Given the description of an element on the screen output the (x, y) to click on. 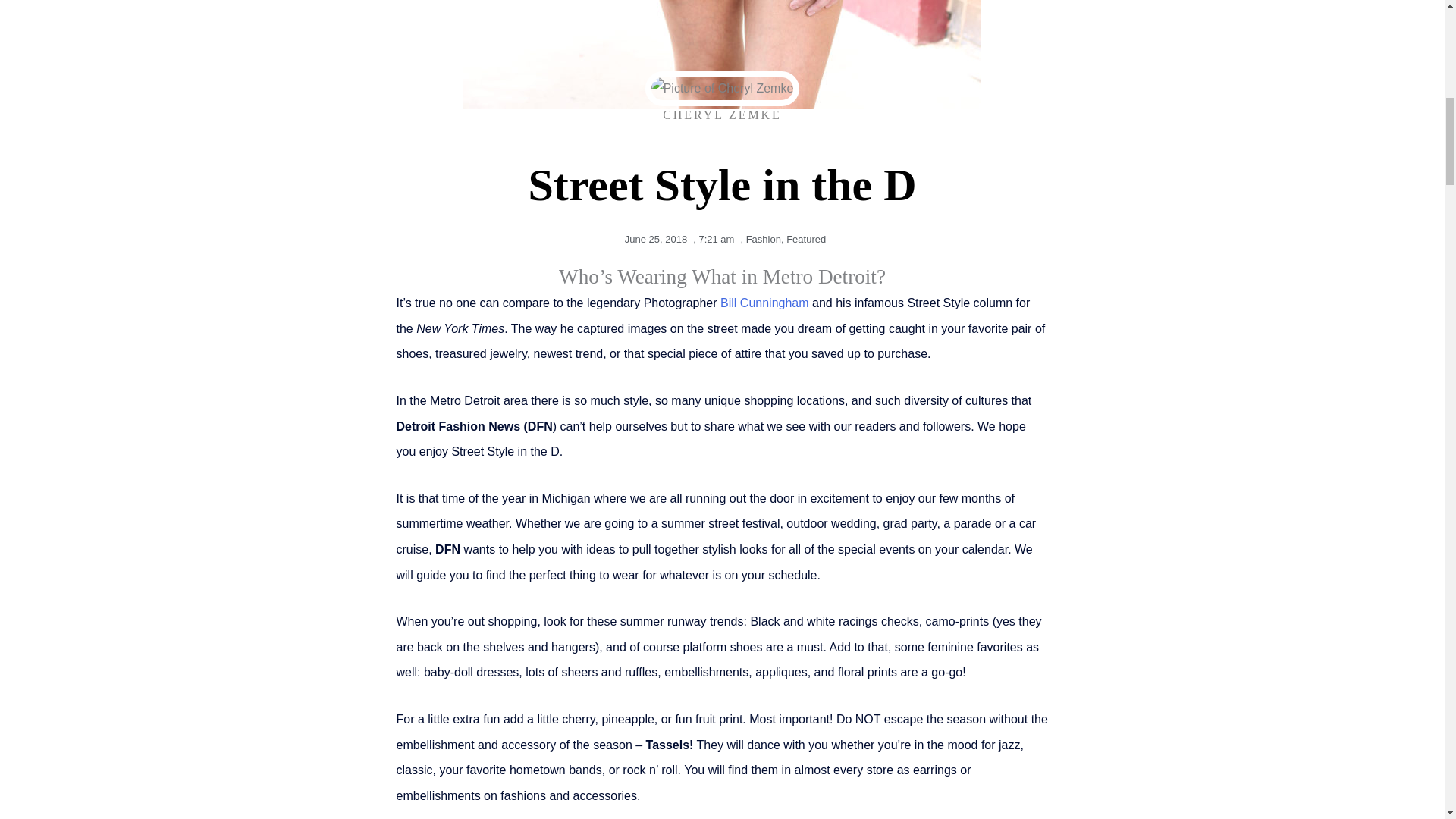
June 25, 2018 (652, 239)
Bill Cunningham (764, 302)
Fashion (762, 238)
Featured (805, 238)
